Given the description of an element on the screen output the (x, y) to click on. 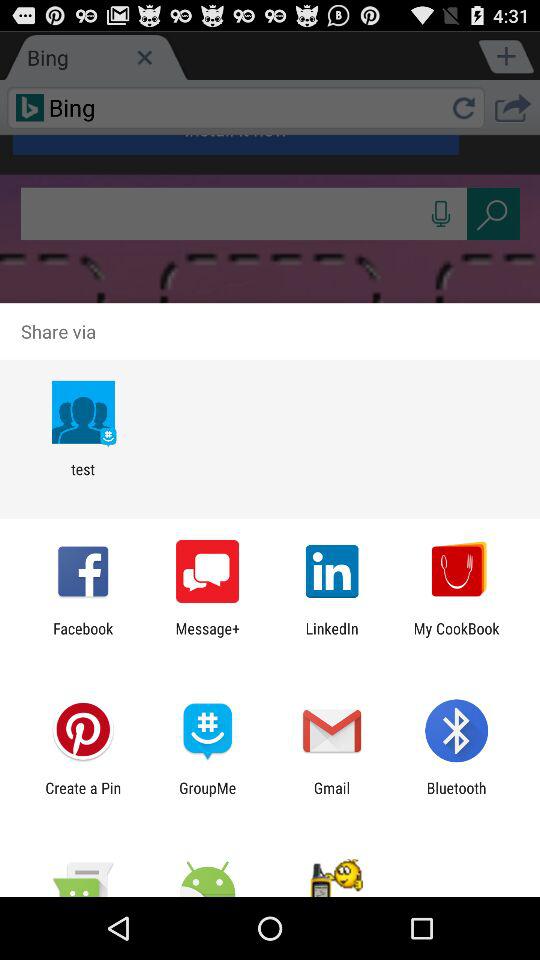
tap the icon next to groupme app (83, 796)
